Given the description of an element on the screen output the (x, y) to click on. 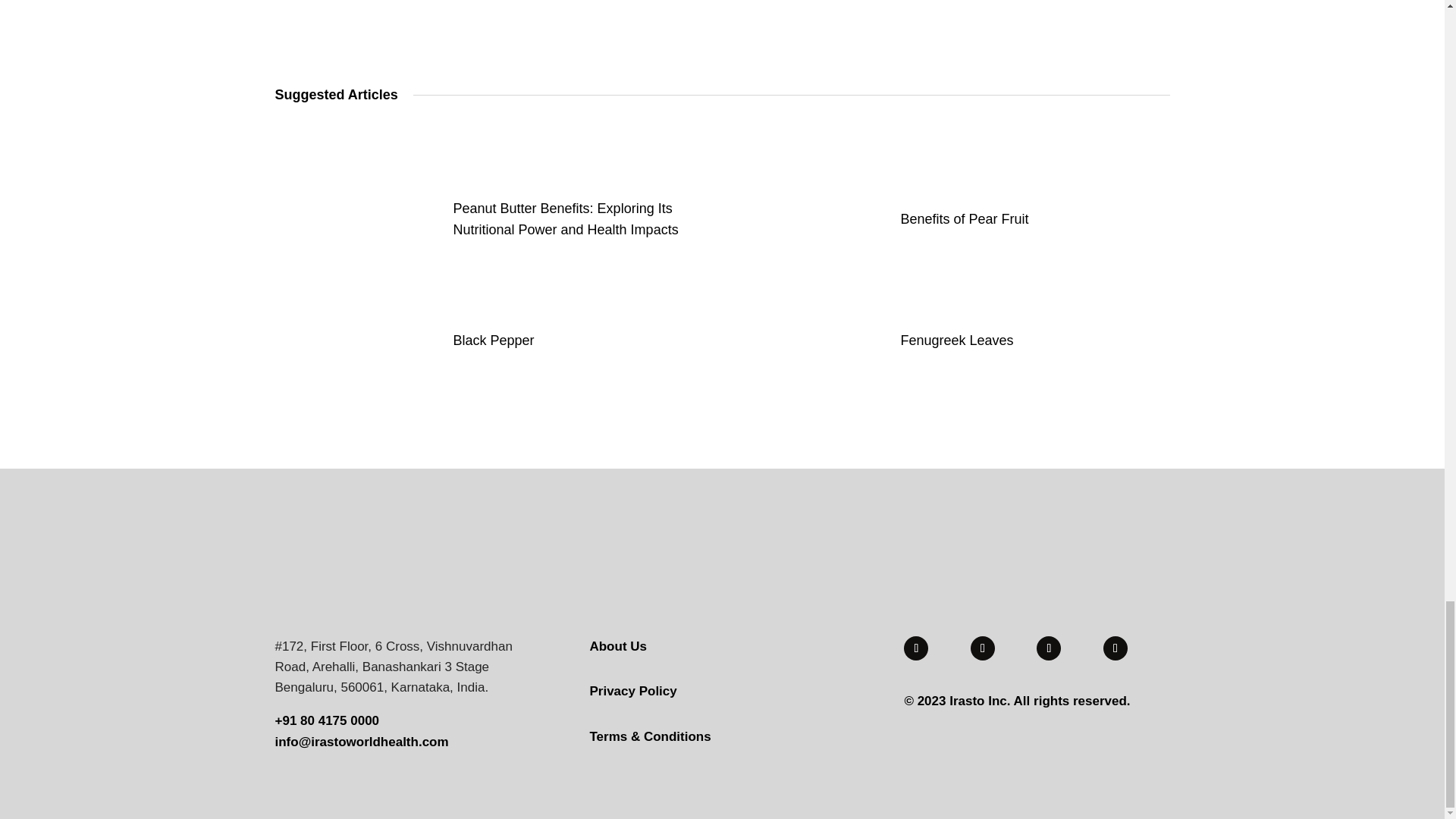
Follow on Facebook (982, 648)
Irasto-logo (363, 563)
Follow on Youtube (916, 648)
Follow on X (1048, 648)
